Given the description of an element on the screen output the (x, y) to click on. 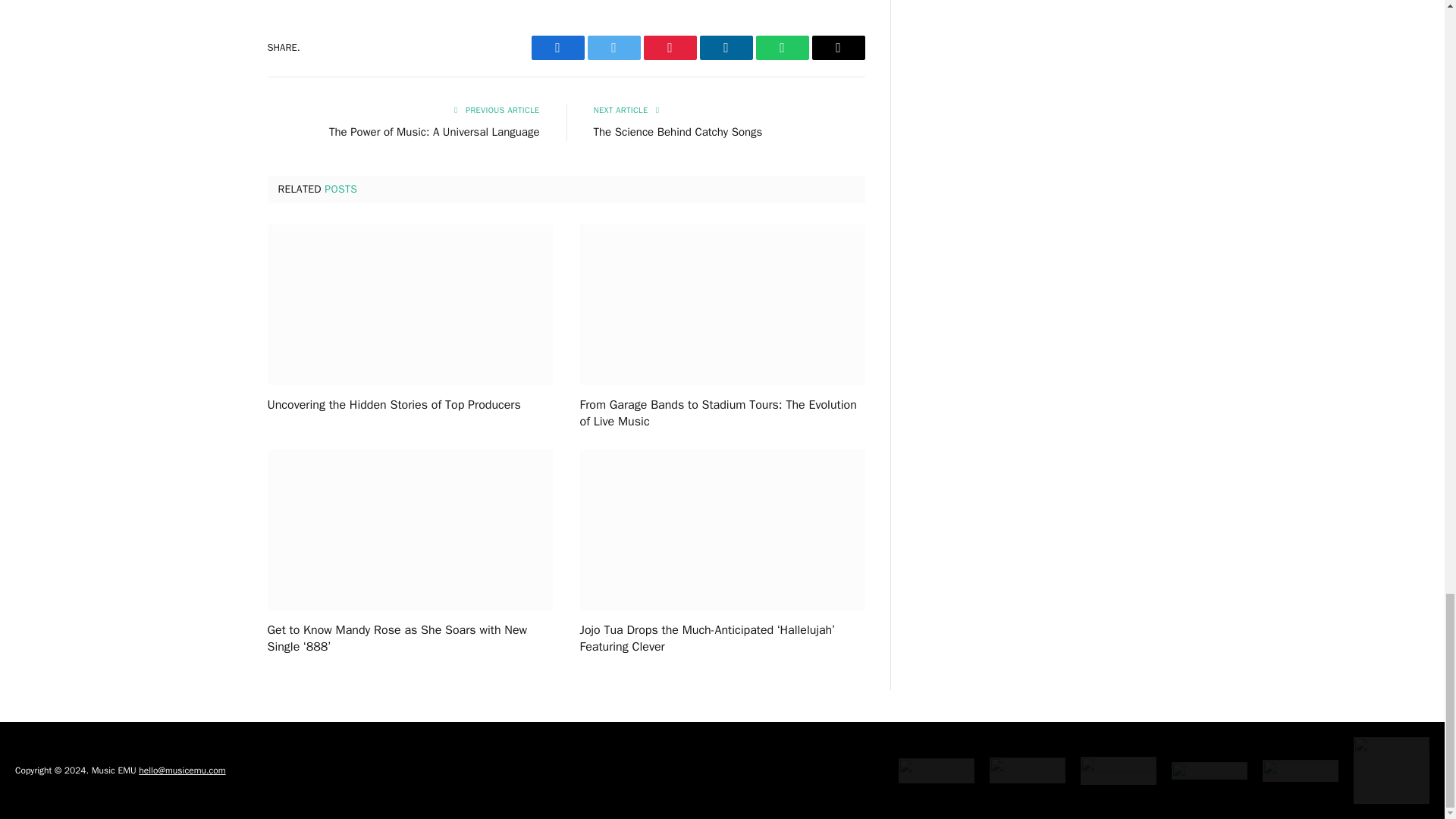
Facebook (557, 47)
WhatsApp (781, 47)
LinkedIn (725, 47)
Pinterest (669, 47)
Twitter (613, 47)
